Given the description of an element on the screen output the (x, y) to click on. 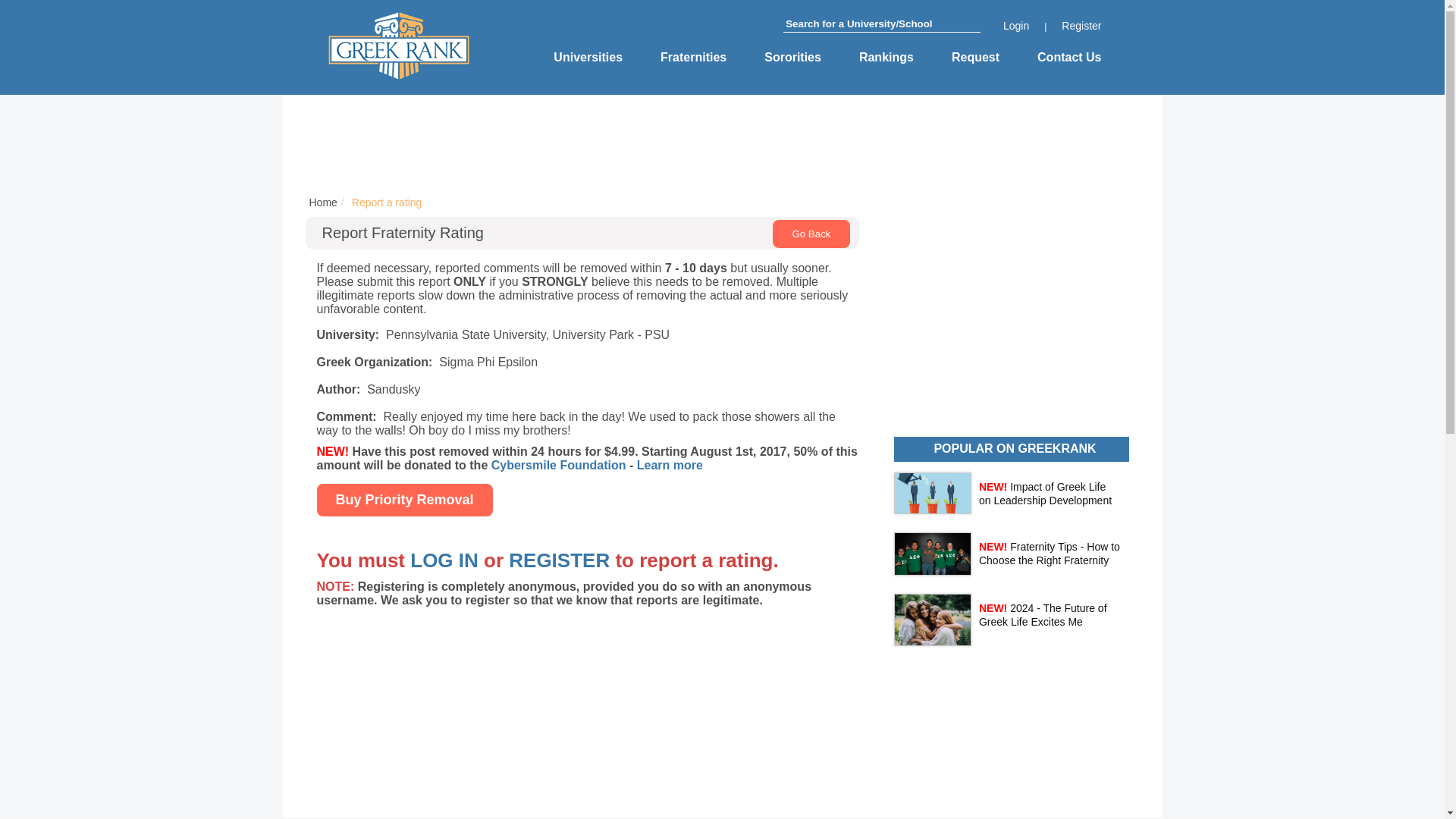
Sororities (792, 57)
REGISTER (559, 559)
Fraternities (693, 57)
search (975, 25)
Home (322, 202)
LOG IN (444, 559)
Universities (588, 57)
Universities (588, 57)
Report a rating (386, 202)
search (975, 25)
Register (1080, 25)
Fraternities (693, 57)
Rankings (886, 57)
Impact of Greek Life on Leadership Development (1045, 493)
Login (1016, 25)
